Given the description of an element on the screen output the (x, y) to click on. 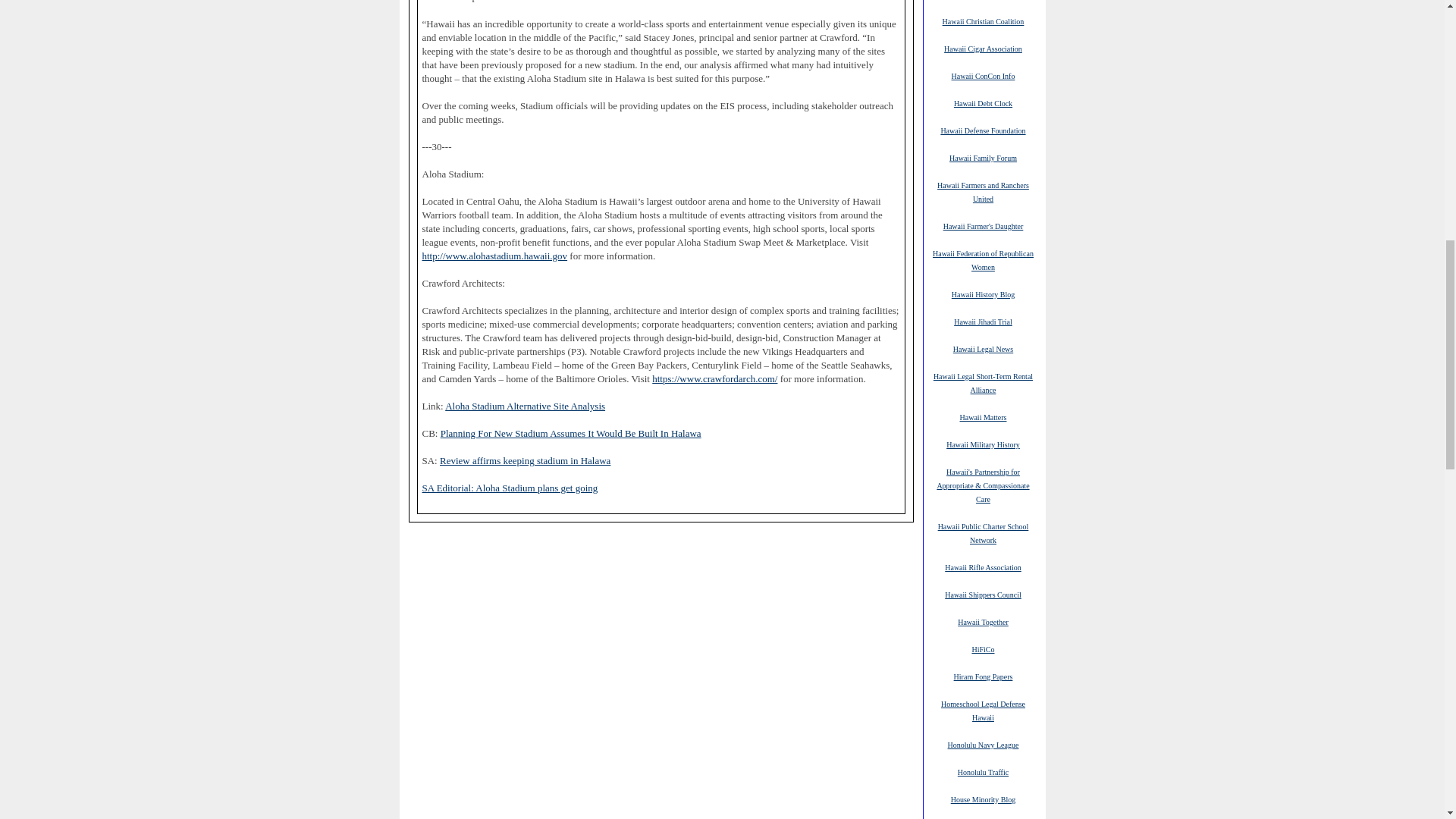
Aloha Stadium Alternative Site Analysis (525, 405)
Hawaii Christian Coalition (983, 20)
SA Editorial: Aloha Stadium plans get going (509, 487)
Planning For New Stadium Assumes It Would Be Built In Halawa (571, 432)
Review affirms keeping stadium in Halawa (524, 460)
